Given the description of an element on the screen output the (x, y) to click on. 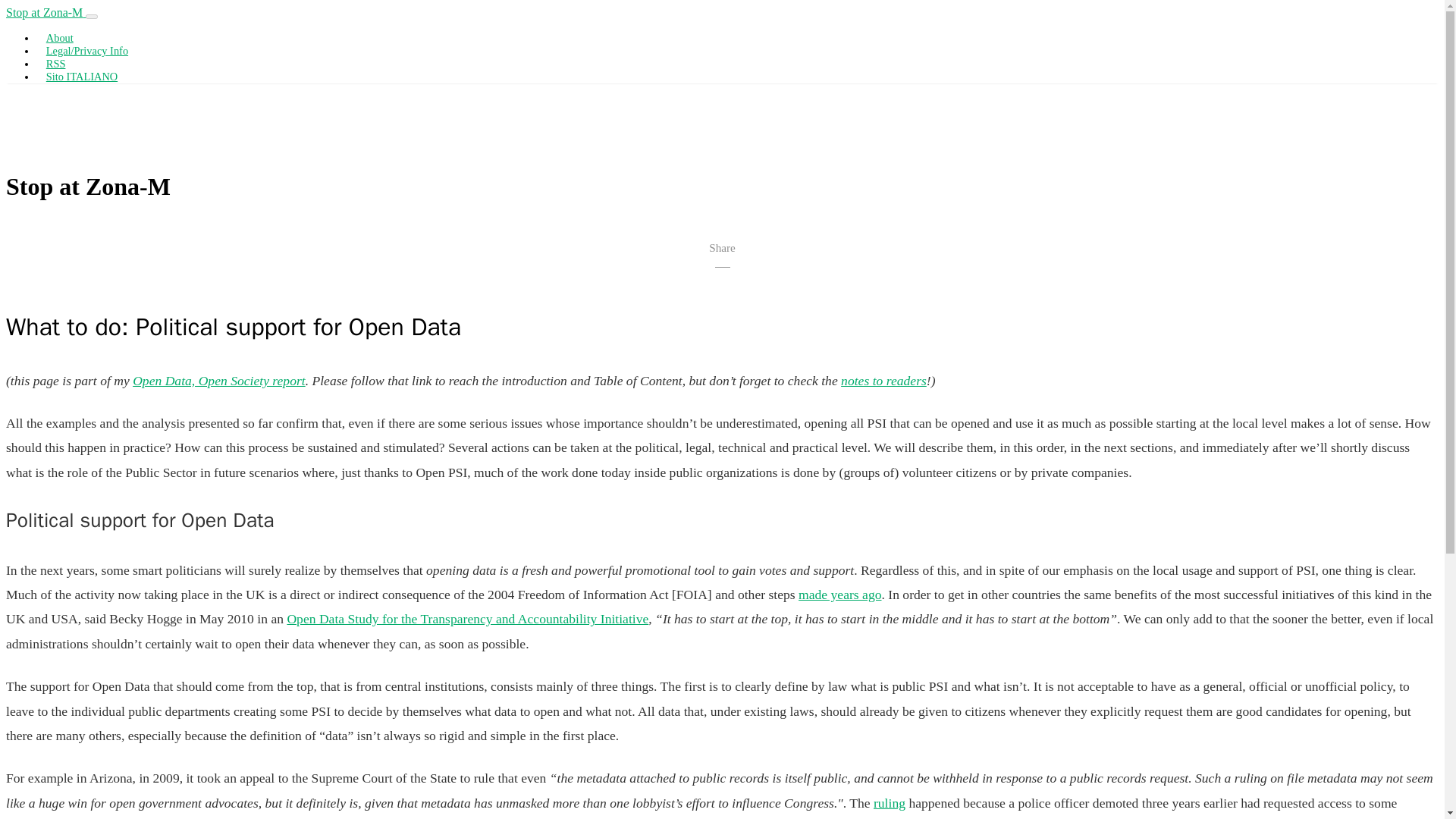
Open Data, Open Society report (218, 380)
notes to readers (883, 380)
Stop at Zona-M (45, 11)
About (59, 37)
ruling (889, 802)
made years ago (838, 594)
RSS (55, 63)
Sito ITALIANO (82, 76)
